Given the description of an element on the screen output the (x, y) to click on. 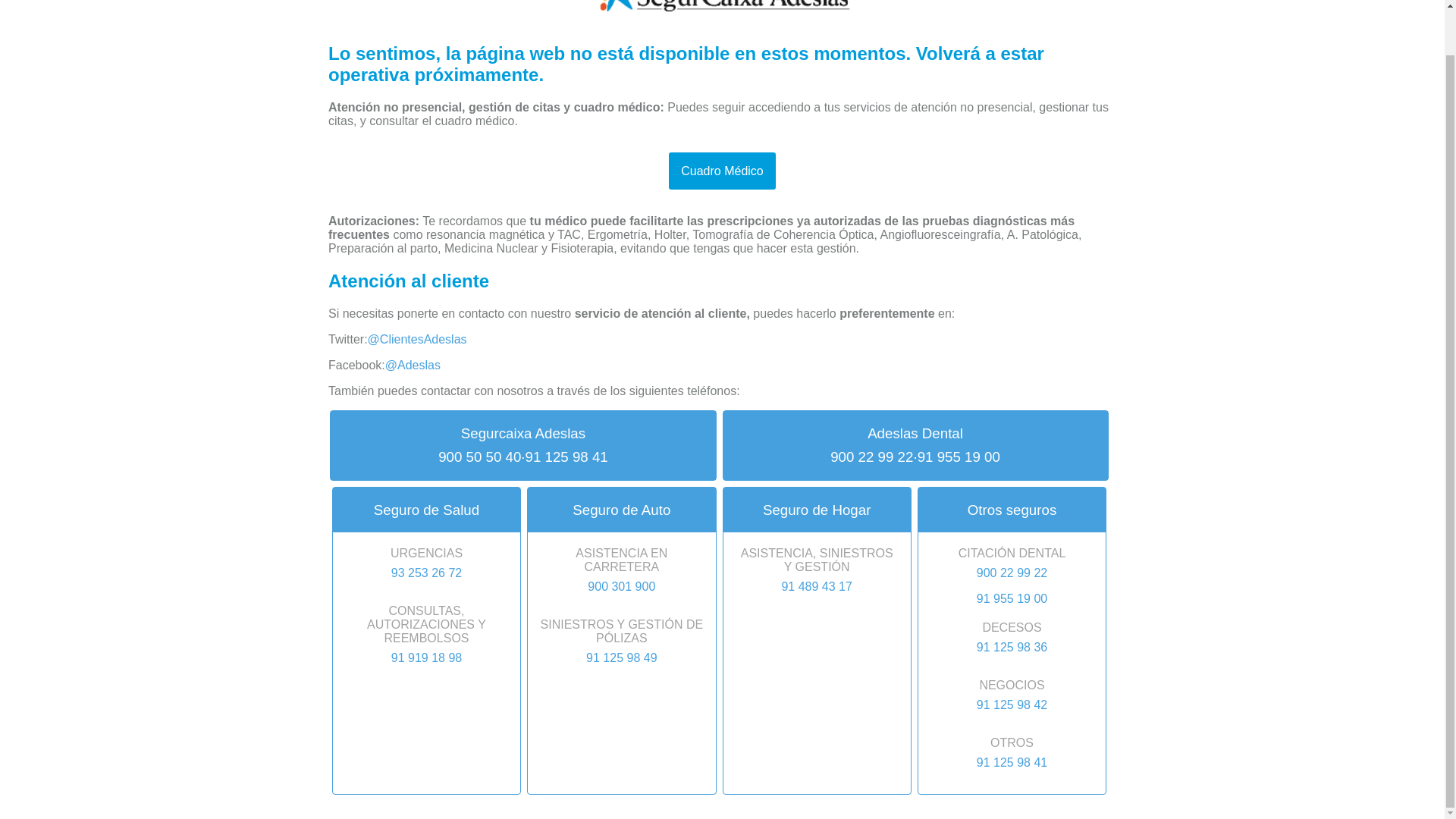
91 125 98 49 (620, 658)
93 253 26 72 (426, 572)
900 50 50 40 (479, 457)
91 125 98 41 (1011, 762)
91 125 98 41 (566, 457)
91 125 98 42 (1011, 704)
91 125 98 36 (1011, 647)
91 955 19 00 (958, 457)
900 301 900 (620, 586)
91 489 43 17 (817, 586)
900 22 99 22 (1011, 572)
91 919 18 98 (426, 658)
900 22 99 22 (870, 457)
91 955 19 00 (1011, 598)
